Given the description of an element on the screen output the (x, y) to click on. 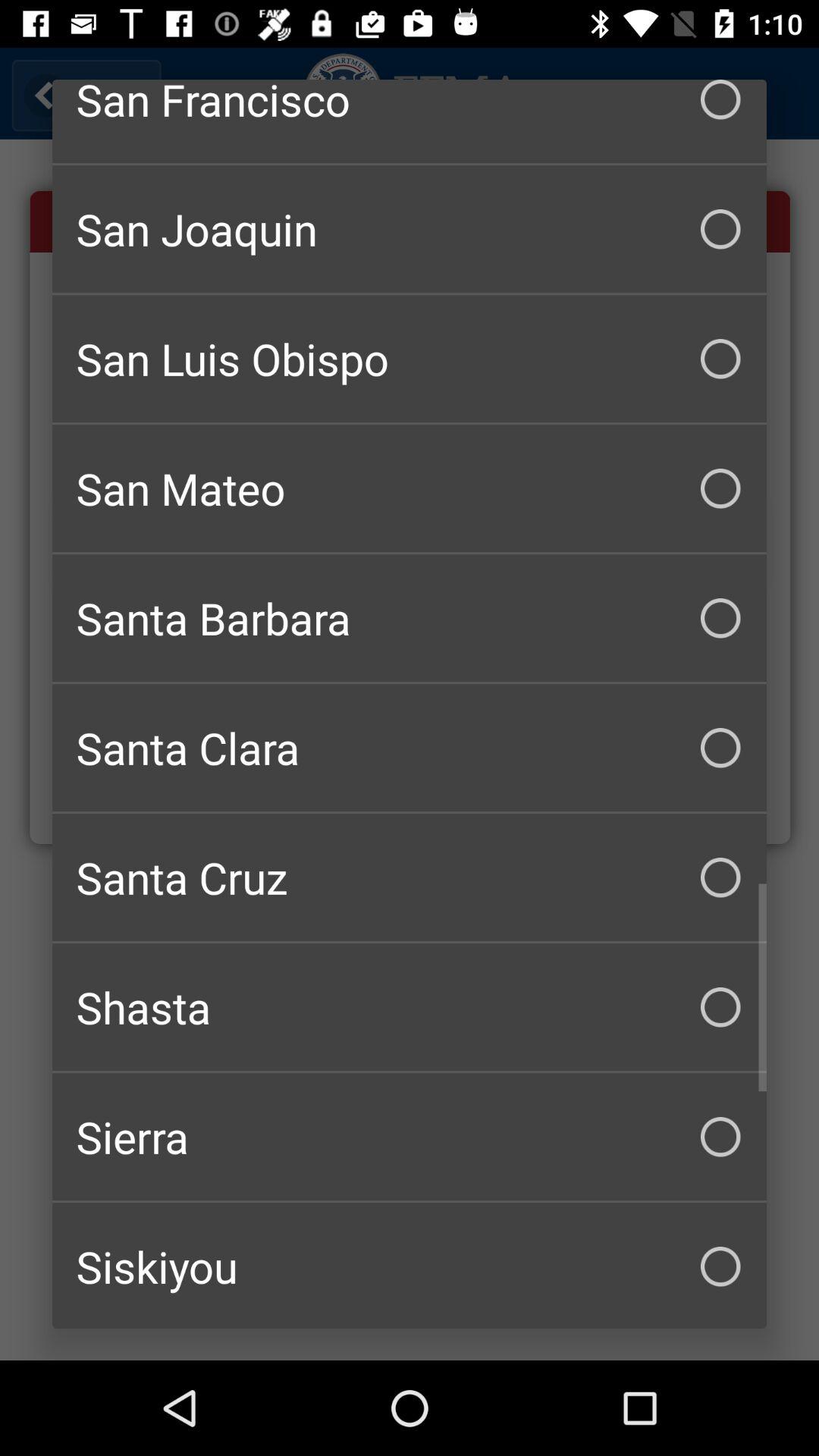
swipe until shasta checkbox (409, 1006)
